Given the description of an element on the screen output the (x, y) to click on. 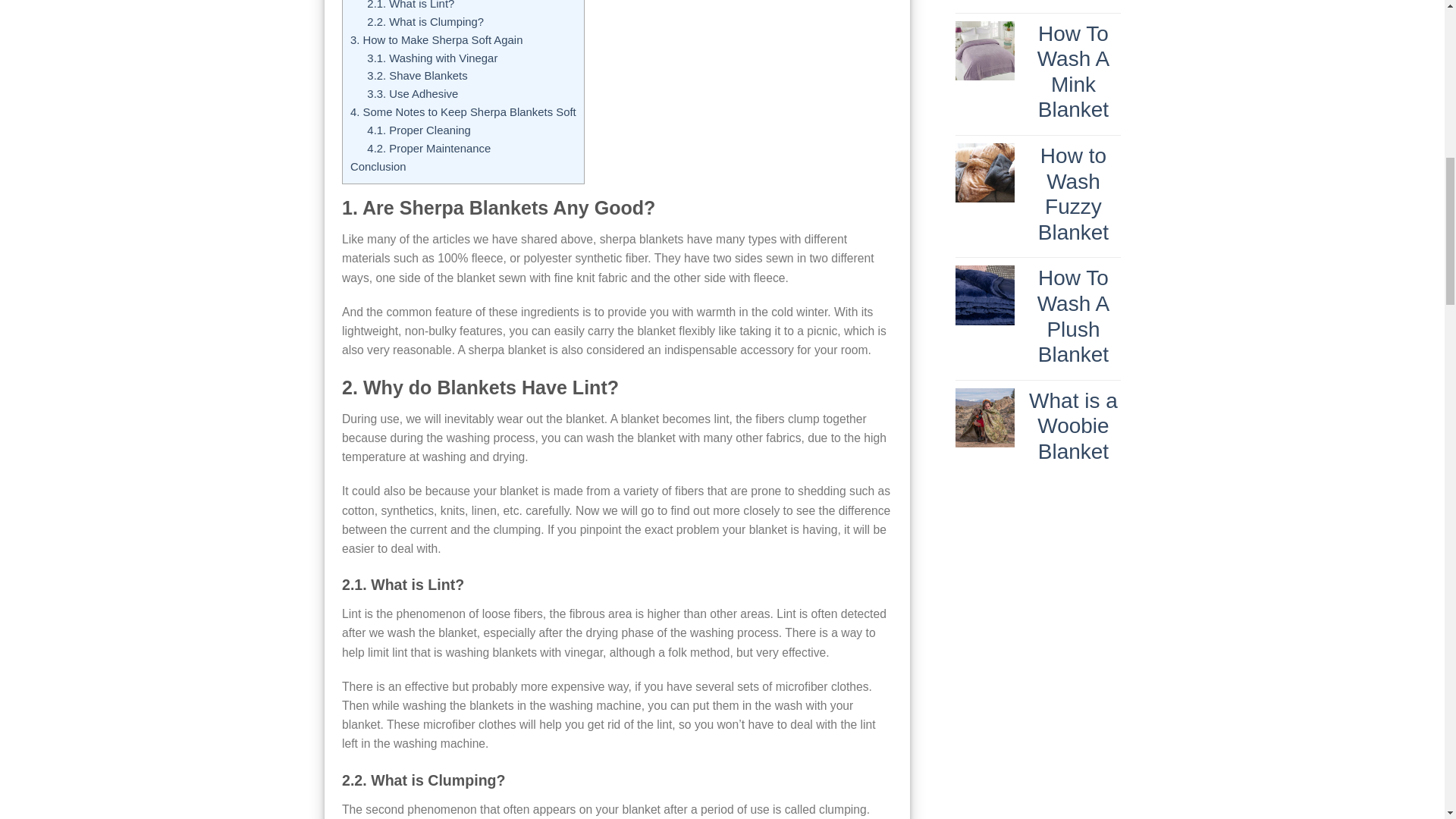
3.1. Washing with Vinegar (431, 58)
How to Wash Fuzzy Blanket (1072, 193)
4.1. Proper Cleaning (418, 130)
2.2. What is Clumping? (424, 21)
2.1. What is Lint? (410, 4)
Conclusion (378, 166)
4. Some Notes to Keep Sherpa Blankets Soft (463, 111)
3. How to Make Sherpa Soft Again (436, 39)
How To Wash A Mink Blanket (1072, 71)
3.3. Use Adhesive (412, 93)
4.2. Proper Maintenance (428, 148)
3.2. Shave Blankets (416, 75)
How To Wash A Plush Blanket (1072, 315)
